Given the description of an element on the screen output the (x, y) to click on. 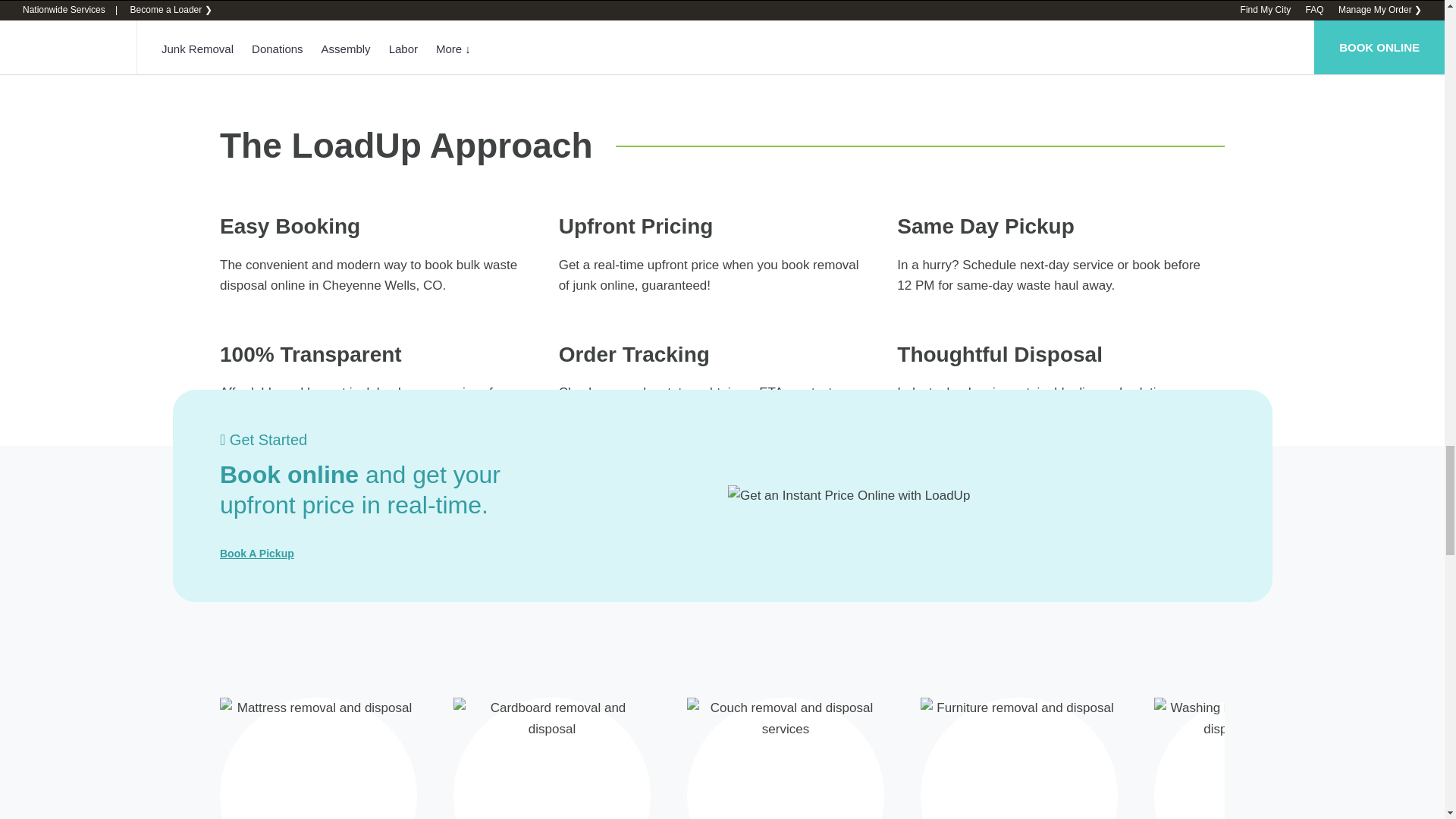
Schedule junk removal in Cheyenne Wells online (256, 553)
